Given the description of an element on the screen output the (x, y) to click on. 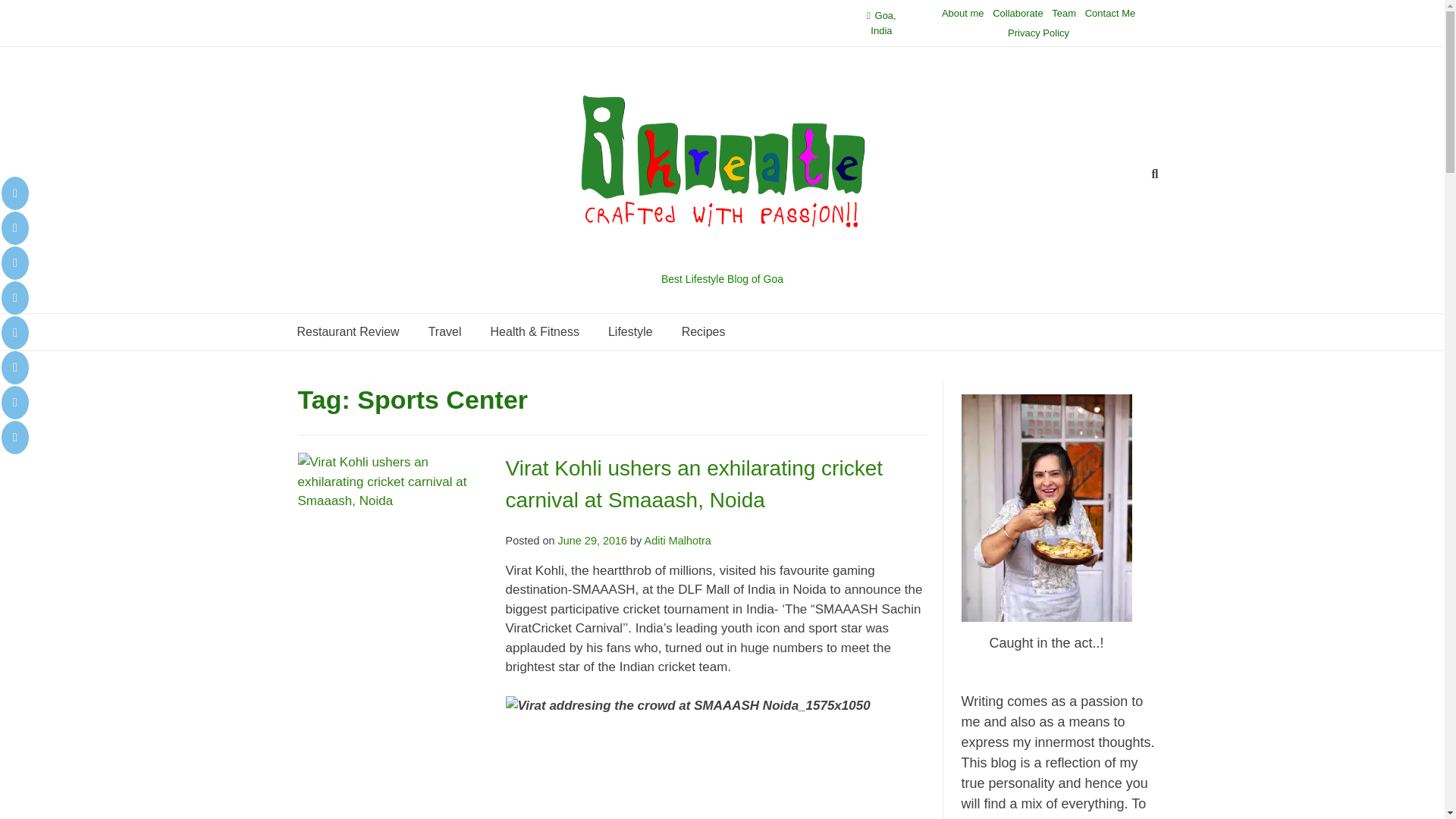
Collaborate (1018, 13)
About me (963, 13)
Aditi Malhotra (678, 540)
Lifestyle (630, 331)
Search (27, 13)
Contact Me (1109, 13)
Privacy Policy (1037, 32)
Team (1063, 13)
June 29, 2016 (592, 540)
Travel (444, 331)
Recipes (702, 331)
Restaurant Review (347, 331)
